Given the description of an element on the screen output the (x, y) to click on. 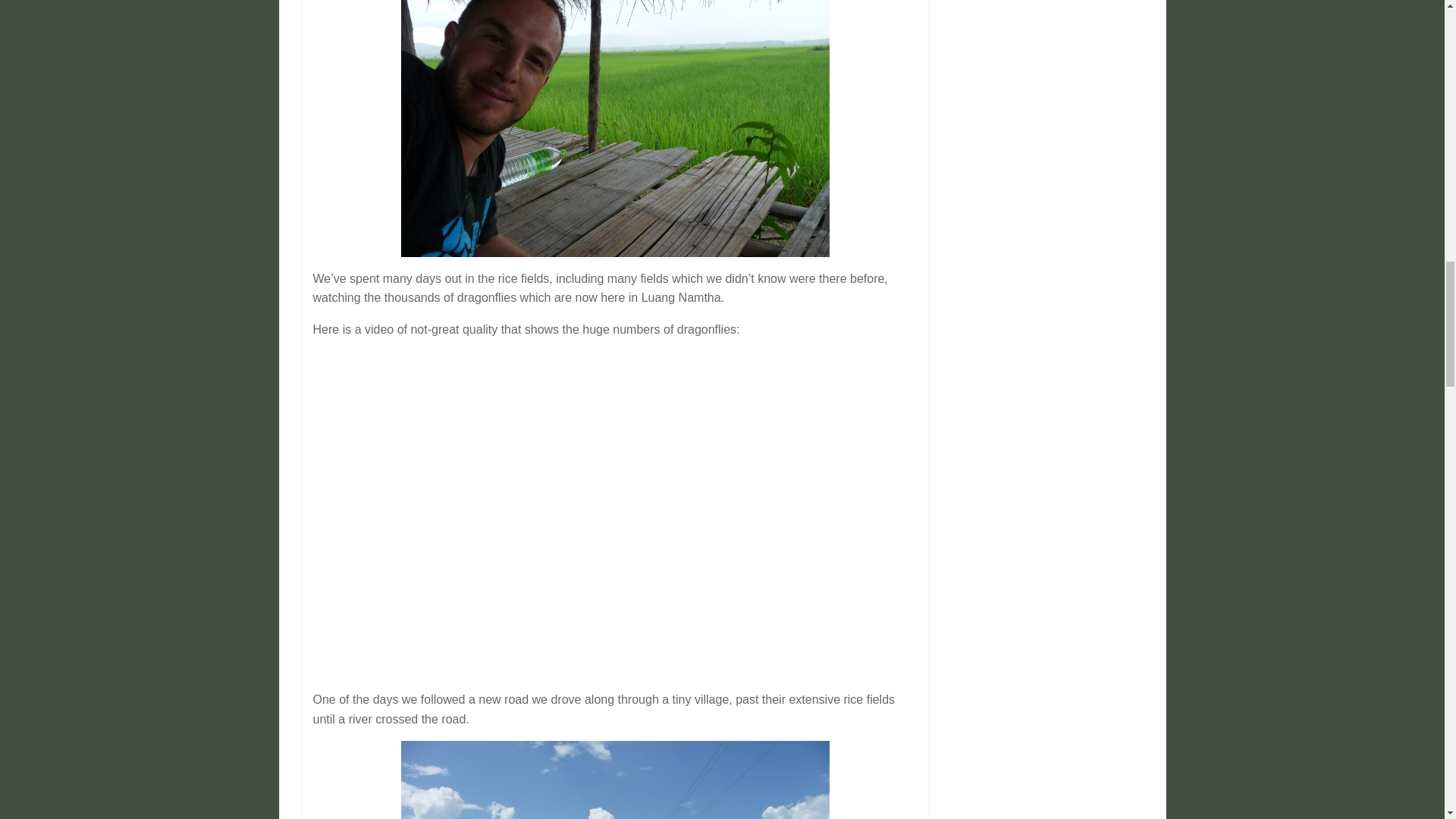
River crossing the road (615, 780)
Dre hanging out in the rice (615, 128)
